Given the description of an element on the screen output the (x, y) to click on. 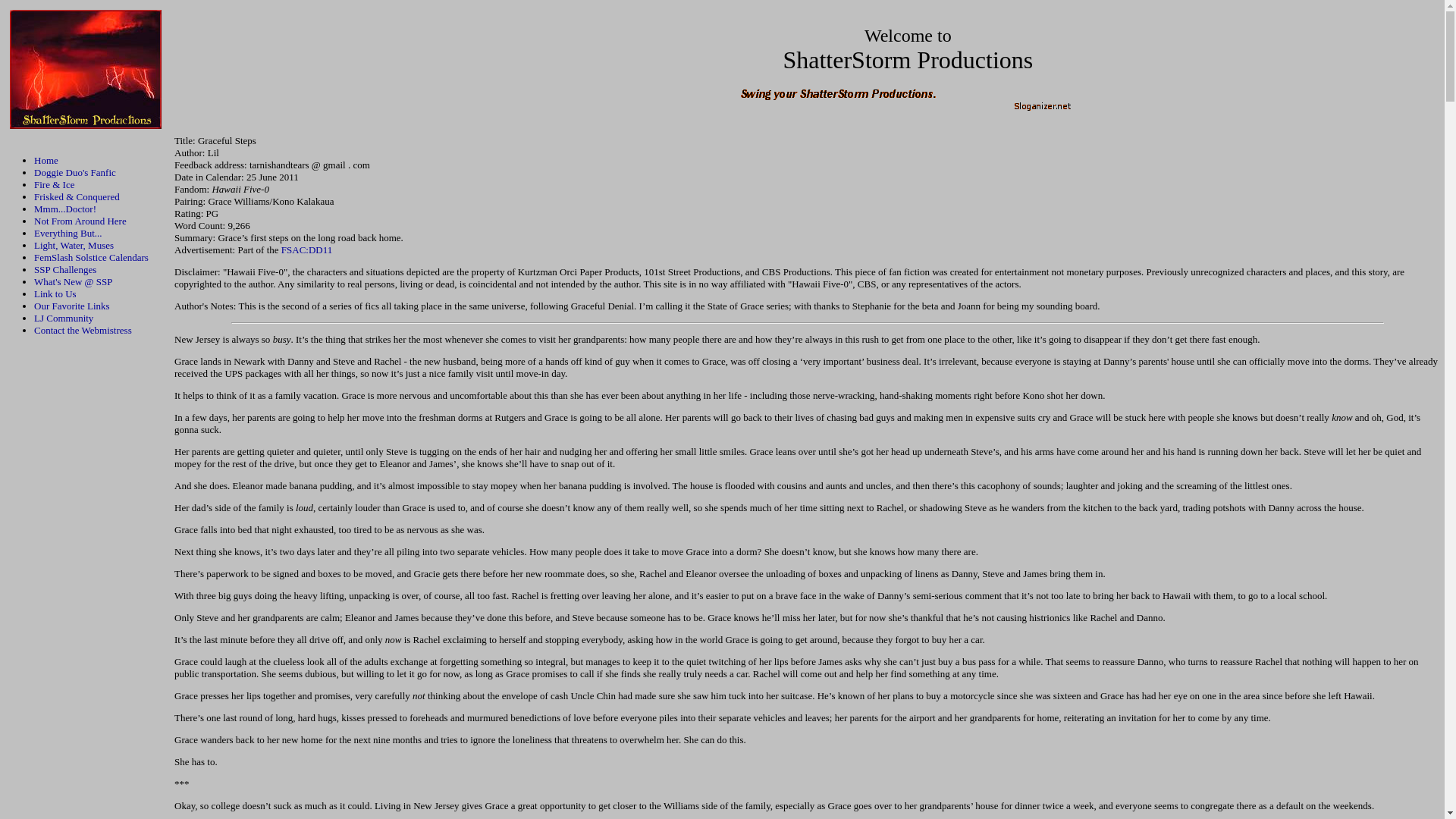
Sloganizer - the slogan generator (907, 108)
Light, Water, Muses (73, 244)
Doggie Duo's Fanfic (74, 172)
Mmm...Doctor! (64, 208)
LJ Community (63, 317)
Home (45, 160)
Our Favorite Links (71, 306)
Everything But... (67, 233)
Contact the Webmistress (82, 329)
Not From Around Here (79, 220)
Link to Us (55, 293)
FSAC:DD11 (306, 249)
FemSlash Solstice Calendars (90, 256)
This slogan was generated by sloganizer.net (907, 99)
SSP Challenges (64, 269)
